Given the description of an element on the screen output the (x, y) to click on. 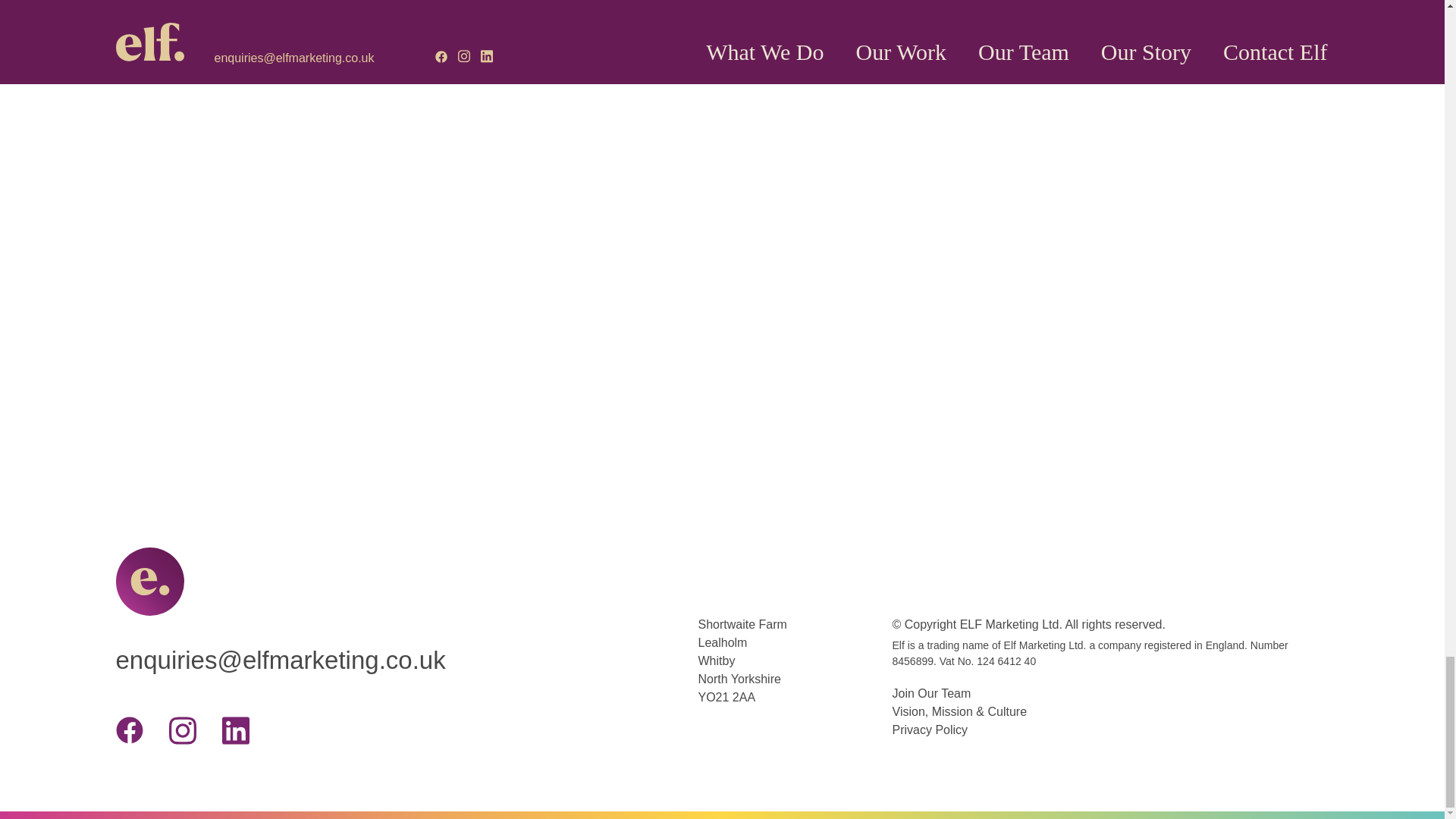
Join Our Team (931, 693)
ELF Marketing (149, 581)
Privacy Policy (929, 729)
Email ELF Marketing (406, 665)
Facebook (128, 729)
